Given the description of an element on the screen output the (x, y) to click on. 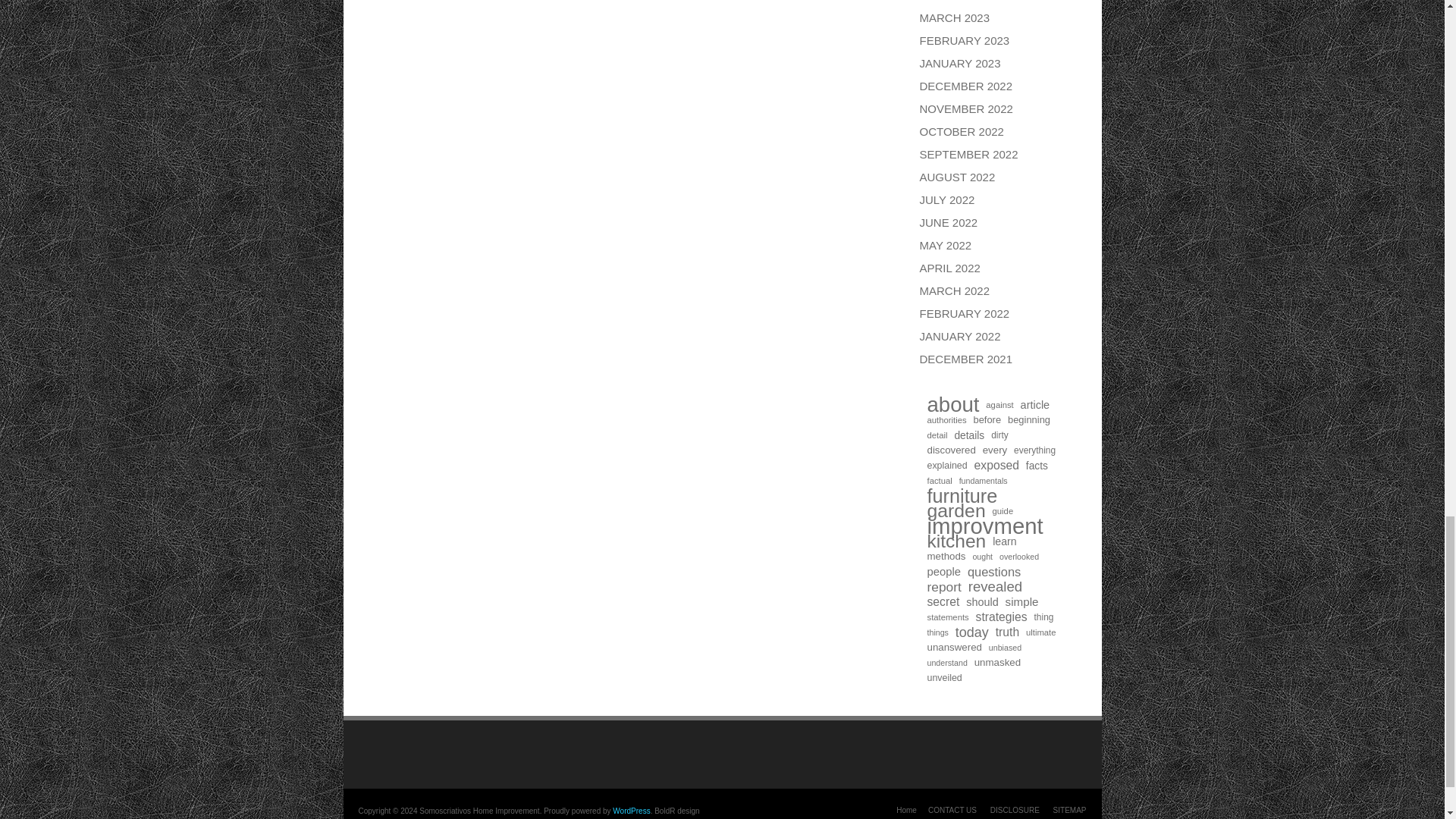
Semantic Personal Publishing Platform (630, 810)
